Given the description of an element on the screen output the (x, y) to click on. 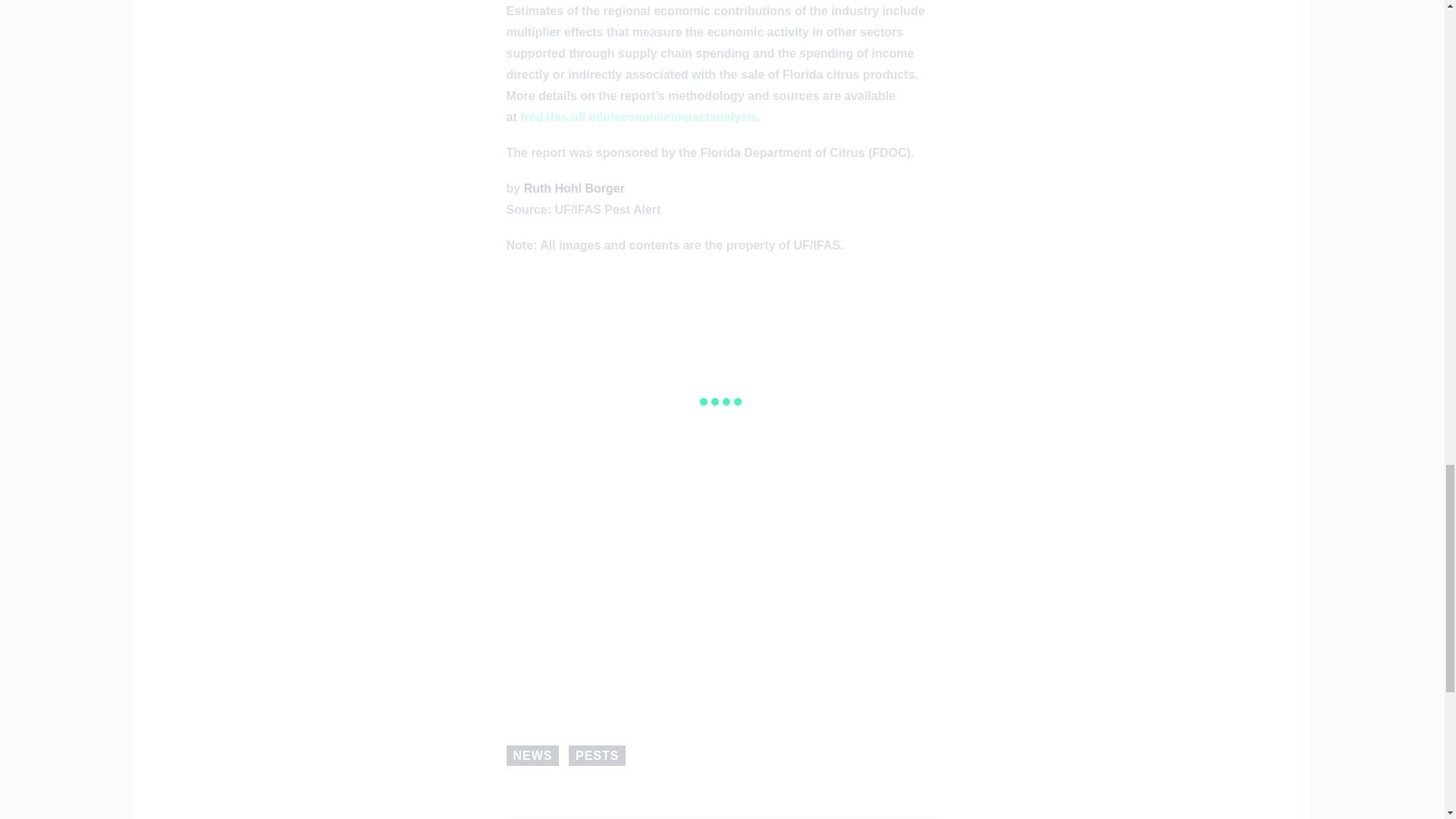
NEWS (532, 755)
PESTS (597, 755)
